Given the description of an element on the screen output the (x, y) to click on. 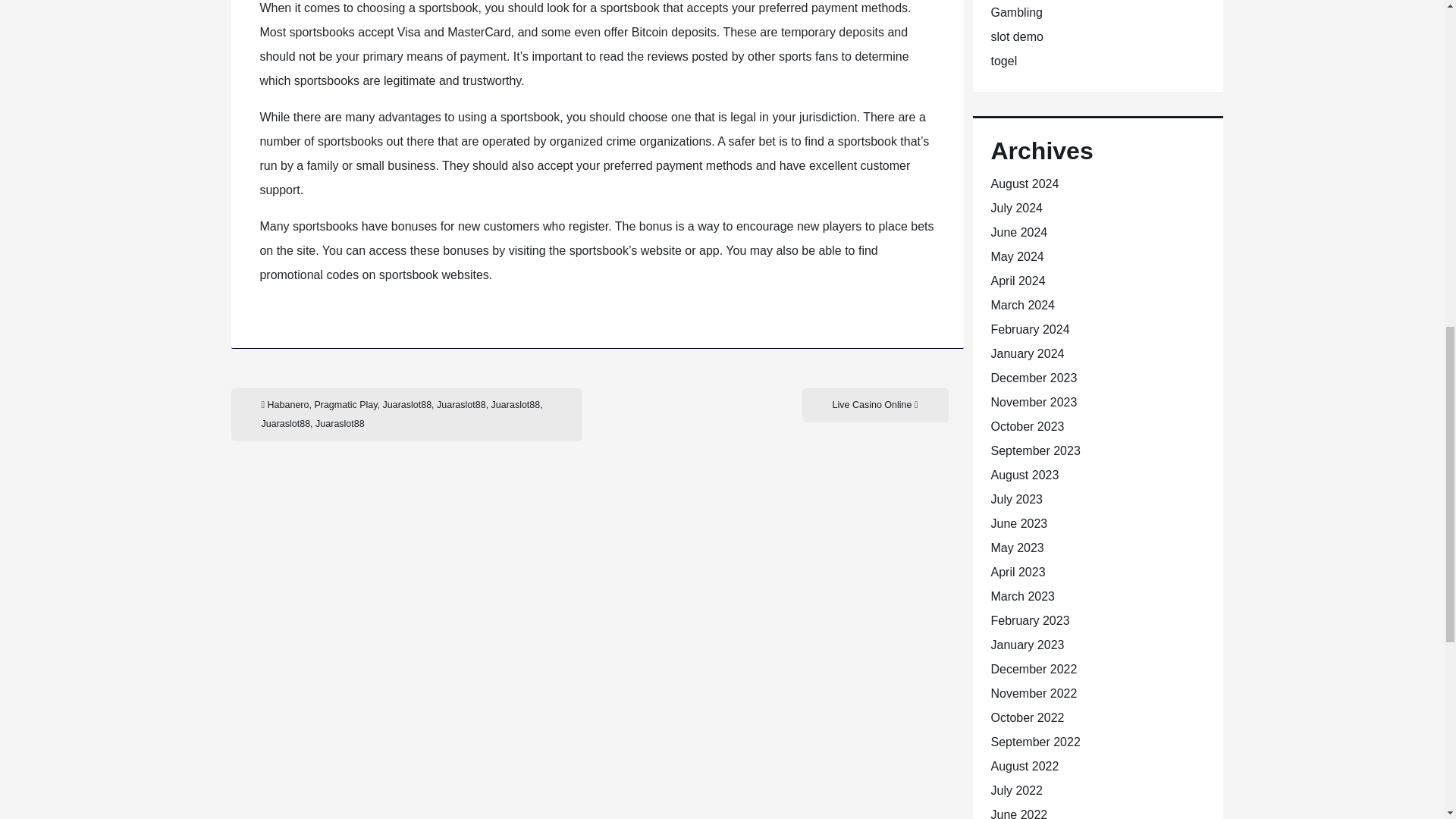
togel (1003, 60)
November 2023 (1033, 401)
March 2024 (1022, 305)
May 2023 (1016, 547)
July 2024 (1016, 207)
December 2023 (1033, 377)
October 2022 (1027, 717)
March 2023 (1022, 595)
June 2024 (1018, 232)
August 2024 (1024, 183)
September 2023 (1035, 450)
October 2023 (1027, 426)
August 2023 (1024, 474)
April 2023 (1017, 571)
January 2023 (1027, 644)
